Given the description of an element on the screen output the (x, y) to click on. 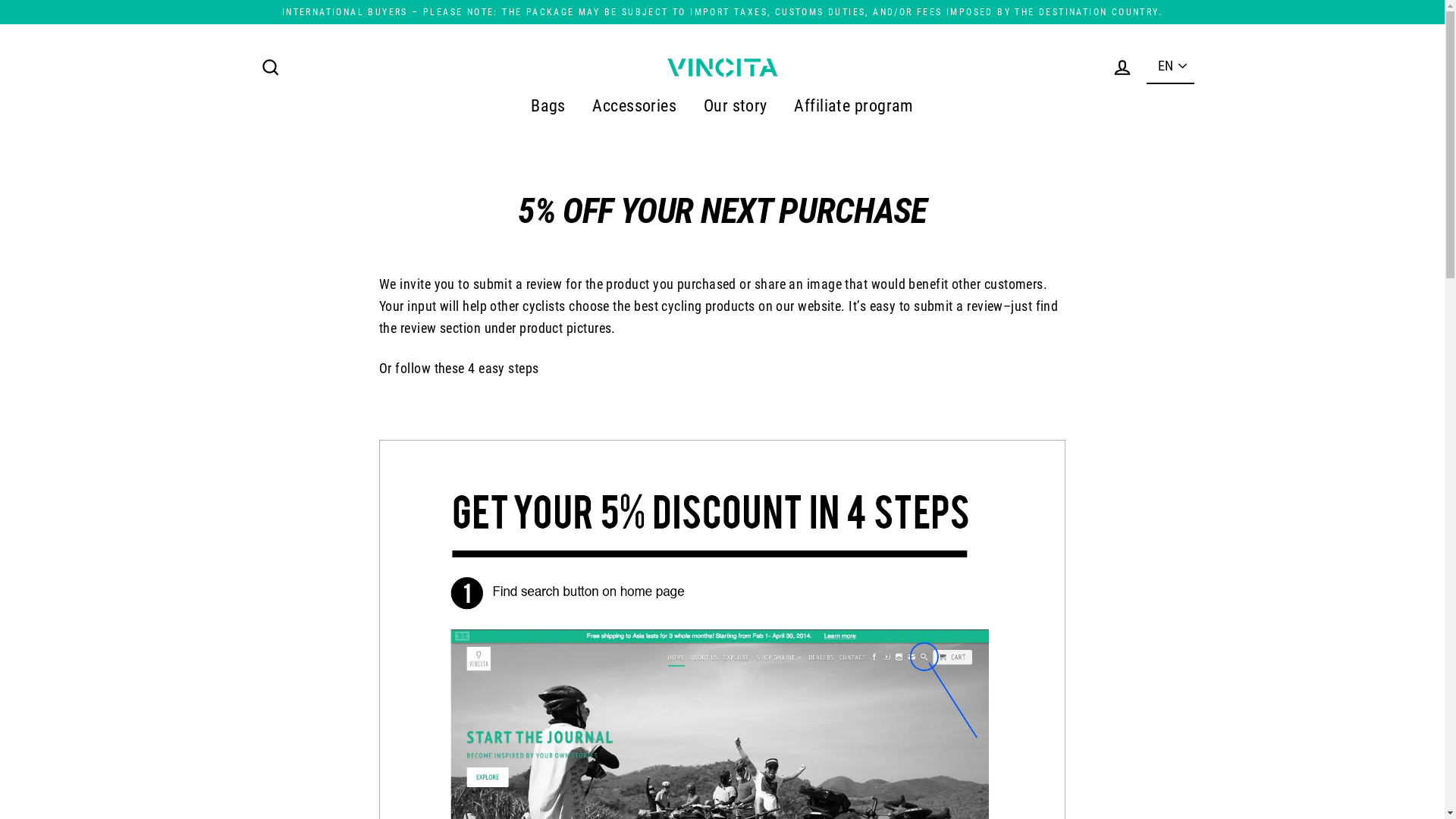
Affiliate program Element type: text (853, 106)
Skip to content Element type: text (0, 0)
Search Element type: text (269, 66)
Accessories Element type: text (633, 106)
Our story Element type: text (735, 106)
Log in Element type: text (1122, 66)
Bags Element type: text (548, 106)
